Given the description of an element on the screen output the (x, y) to click on. 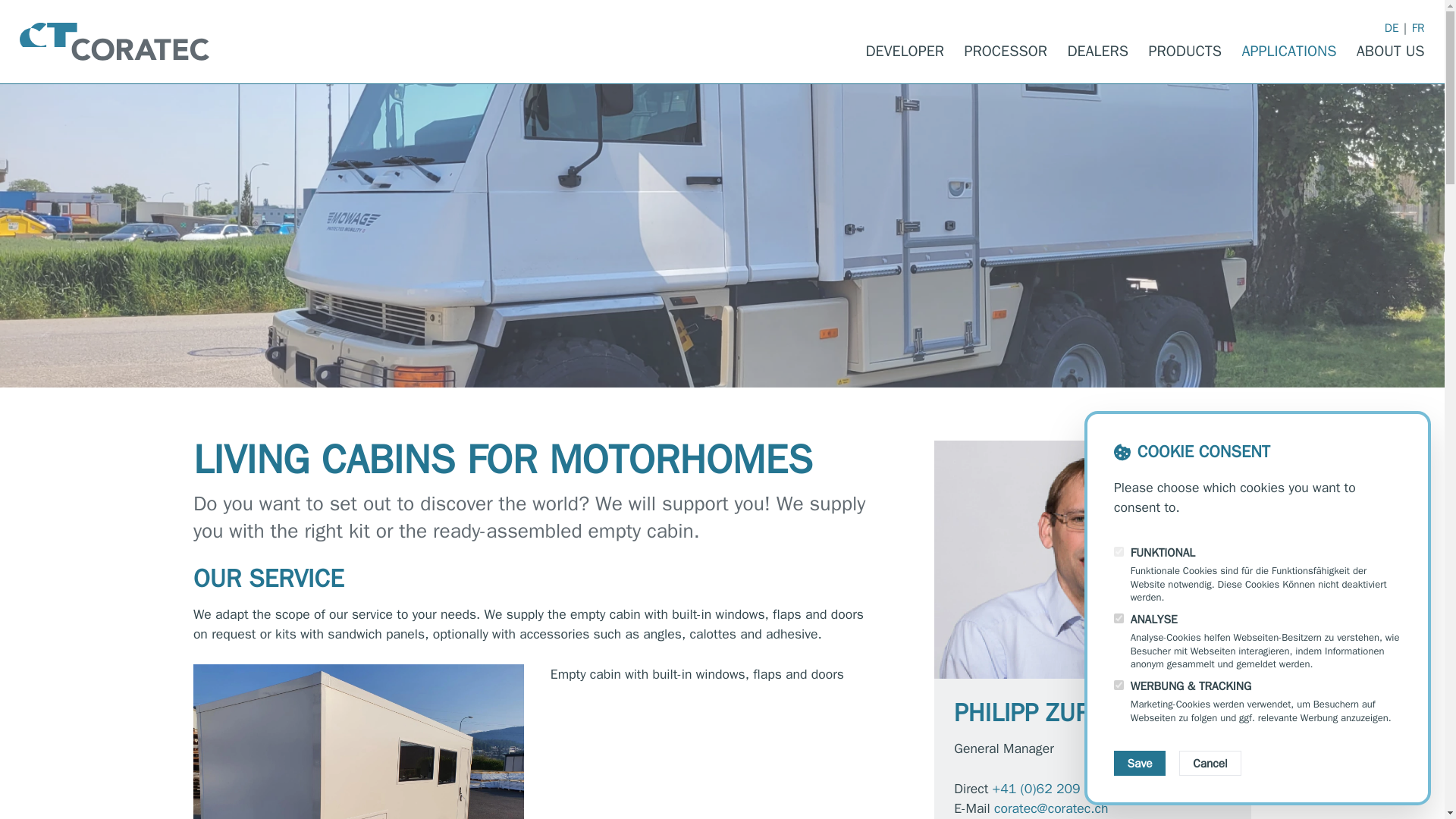
PRODUCTS (1184, 51)
embeds (1118, 685)
Motorhome cabins (358, 741)
ABOUT US (1390, 51)
About us (1390, 51)
Dealers (1097, 51)
Applications (1288, 51)
analytics (1118, 618)
Products (1184, 51)
Save (1139, 763)
APPLICATIONS (1288, 51)
DEVELOPER (903, 51)
Developer (903, 51)
DEALERS (1097, 51)
Cancel (1210, 763)
